Given the description of an element on the screen output the (x, y) to click on. 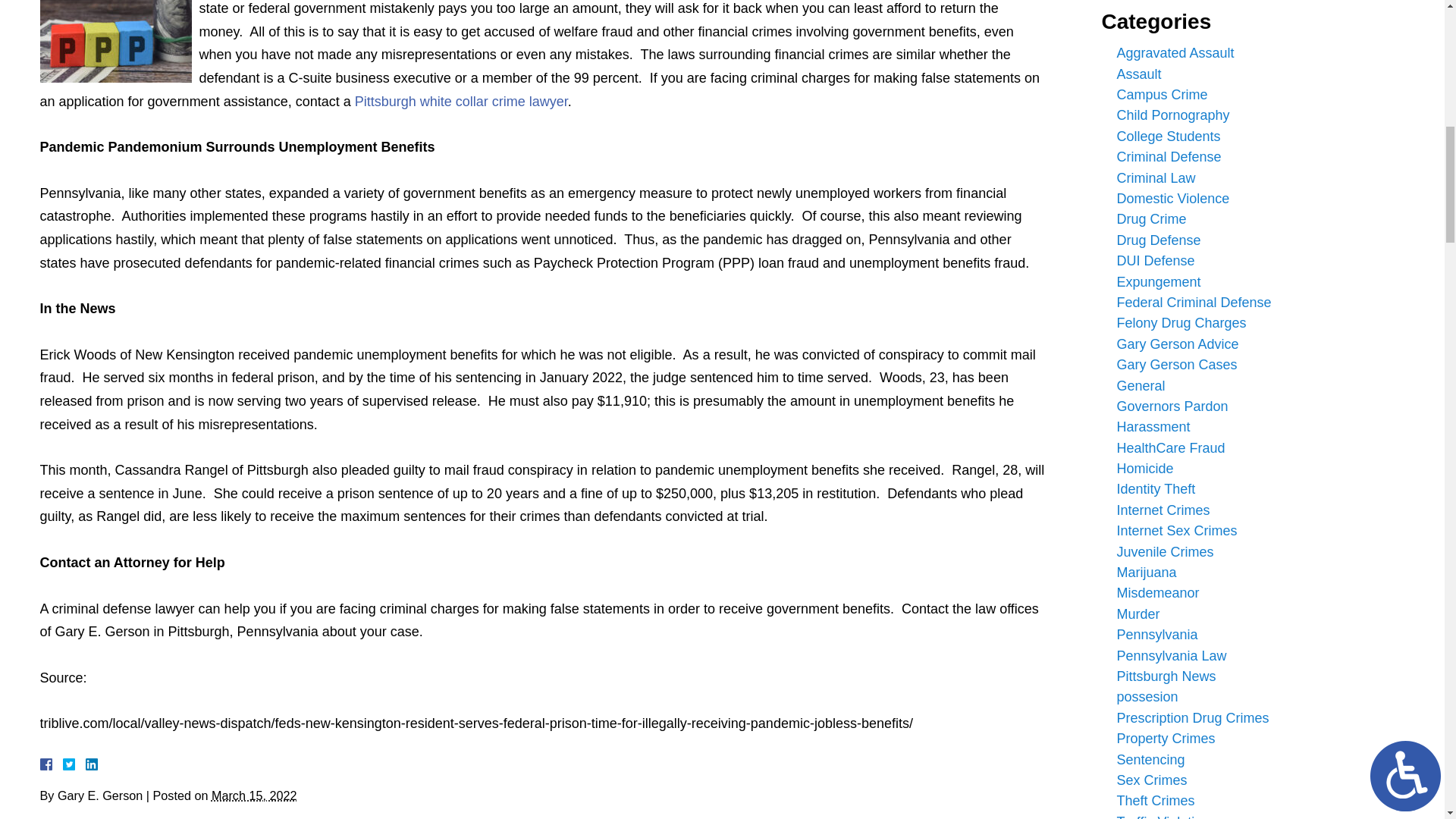
Facebook (63, 764)
2022-03-15T11:38:13-0700 (254, 795)
PPP (114, 41)
Twitter (74, 764)
LinkedIn (85, 764)
